Given the description of an element on the screen output the (x, y) to click on. 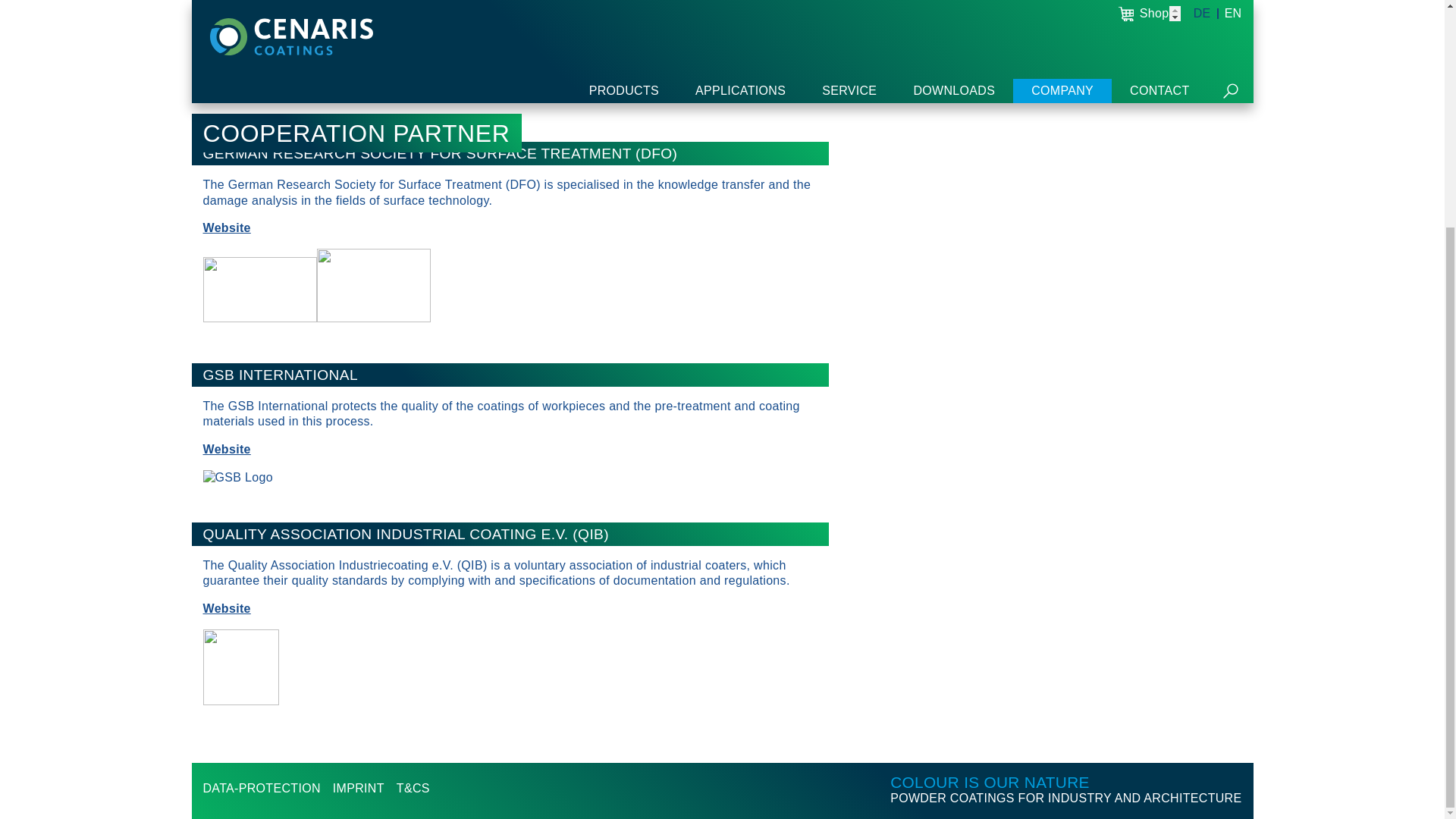
Website (226, 449)
IMPRINT (358, 482)
Website (226, 227)
DATA-PROTECTION (261, 482)
Website (226, 68)
Website (226, 608)
